Given the description of an element on the screen output the (x, y) to click on. 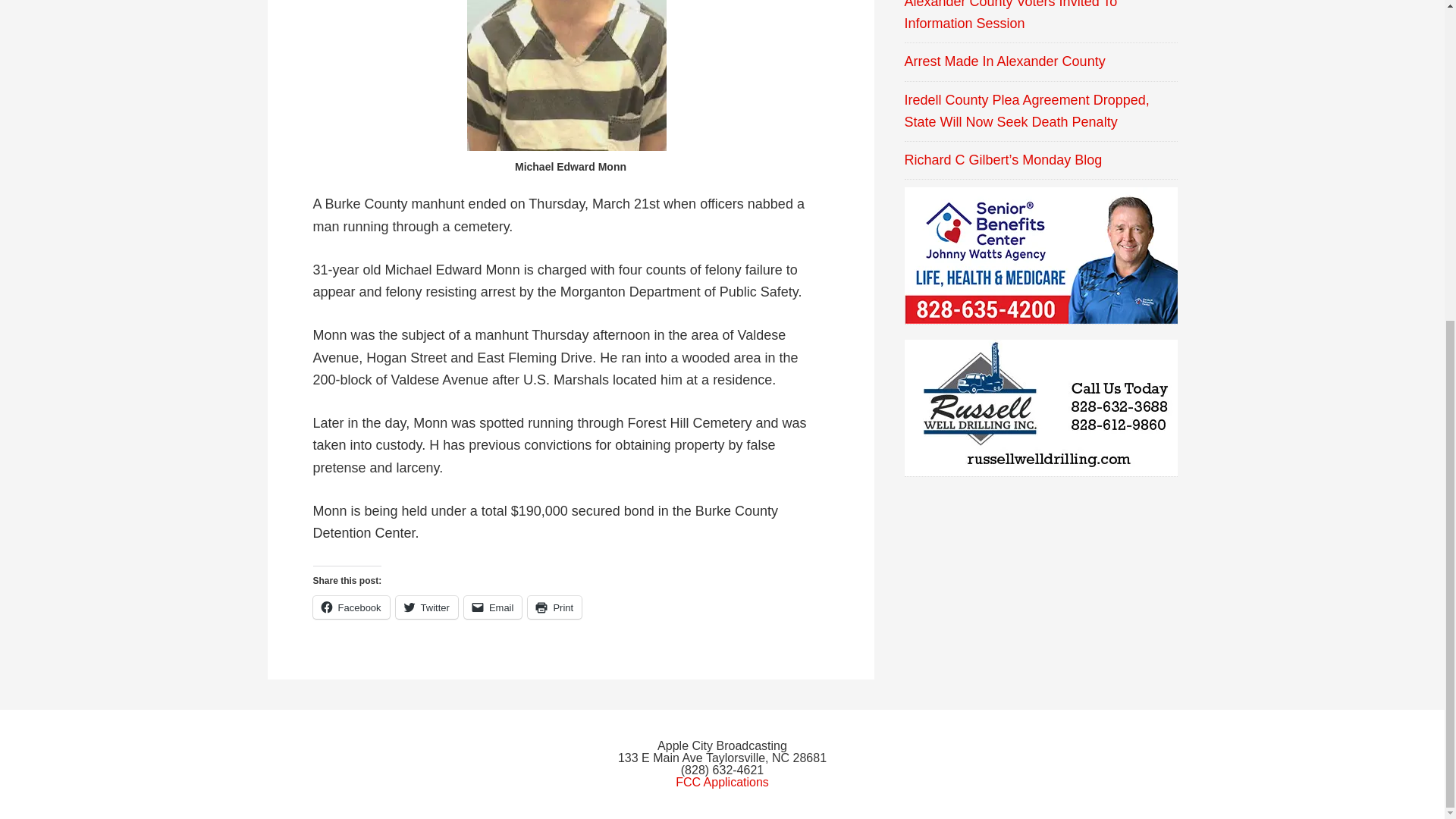
Russell Well Drilling- russellwelldrilling.com (1040, 407)
Print (553, 607)
Alexander County Voters Invited To Information Session (1010, 15)
Click to print (553, 607)
FCC Applications (721, 781)
Click to share on Facebook (350, 607)
Click to email a link to a friend (493, 607)
Twitter (427, 607)
Facebook (350, 607)
Click to share on Twitter (427, 607)
Email (493, 607)
Arrest Made In Alexander County (1004, 61)
